Given the description of an element on the screen output the (x, y) to click on. 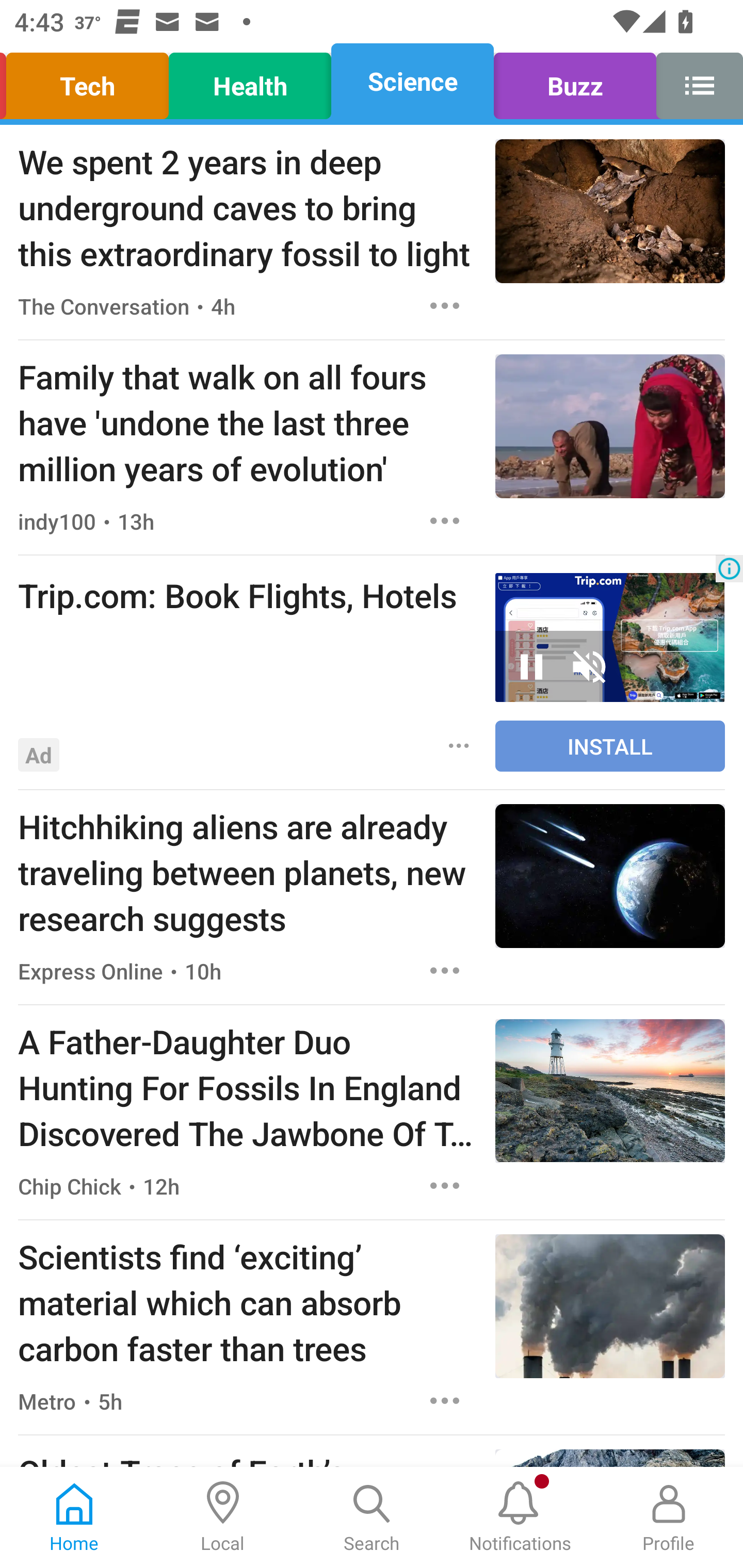
Tech (89, 81)
Health (249, 81)
Science (412, 81)
Buzz (574, 81)
 (694, 81)
Options (444, 305)
Options (444, 520)
Ad Choices Icon (729, 568)
Trip.com: Book Flights, Hotels (247, 594)
INSTALL (610, 746)
Options (459, 745)
Options (444, 970)
Options (444, 1185)
Options (444, 1400)
Local (222, 1517)
Search (371, 1517)
Notifications, New notification Notifications (519, 1517)
Profile (668, 1517)
